Given the description of an element on the screen output the (x, y) to click on. 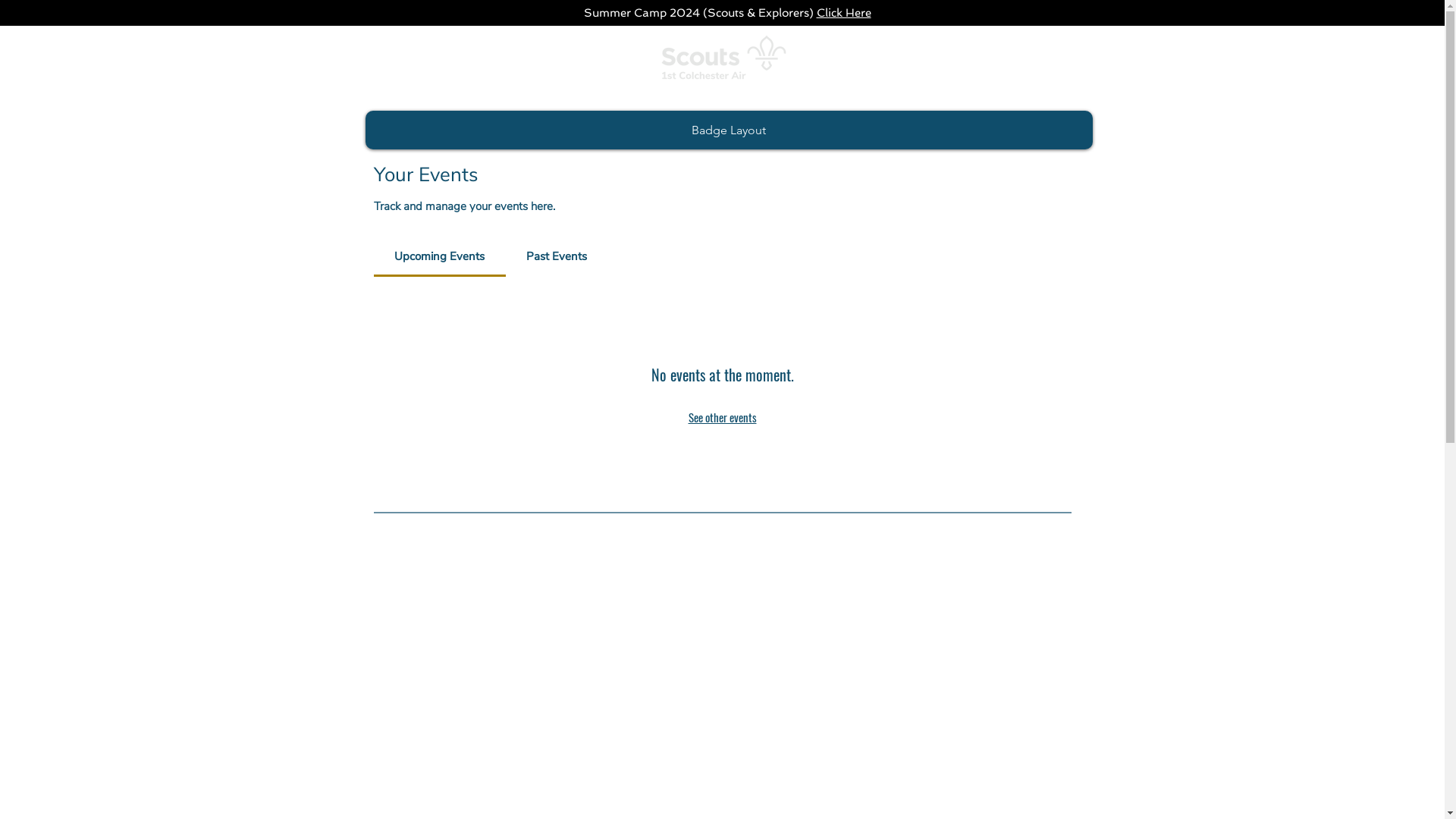
Badge Layout Element type: text (728, 129)
See other events Element type: text (722, 417)
Parent/Member Portal Element type: text (1082, 40)
Click Here Element type: text (842, 12)
Login Element type: text (1114, 68)
